Given the description of an element on the screen output the (x, y) to click on. 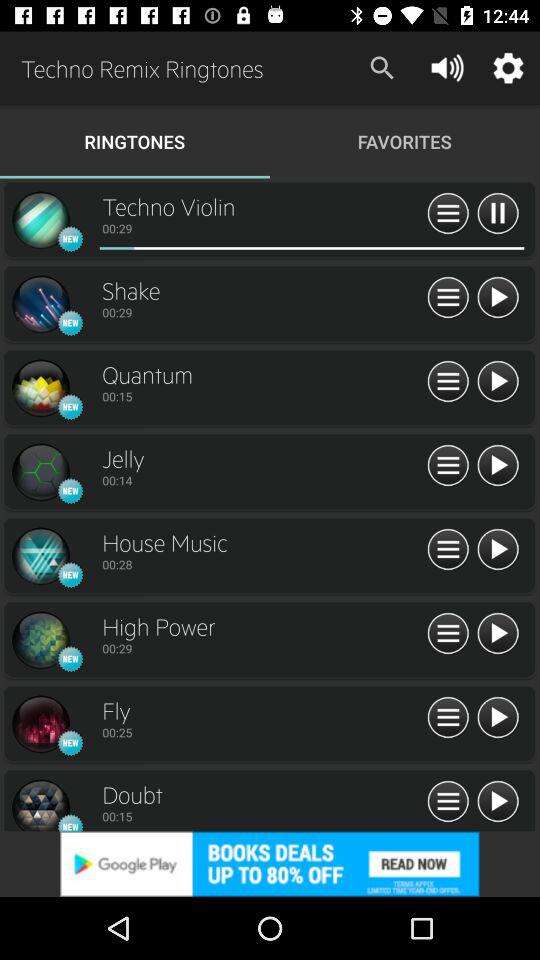
see more info (447, 297)
